Given the description of an element on the screen output the (x, y) to click on. 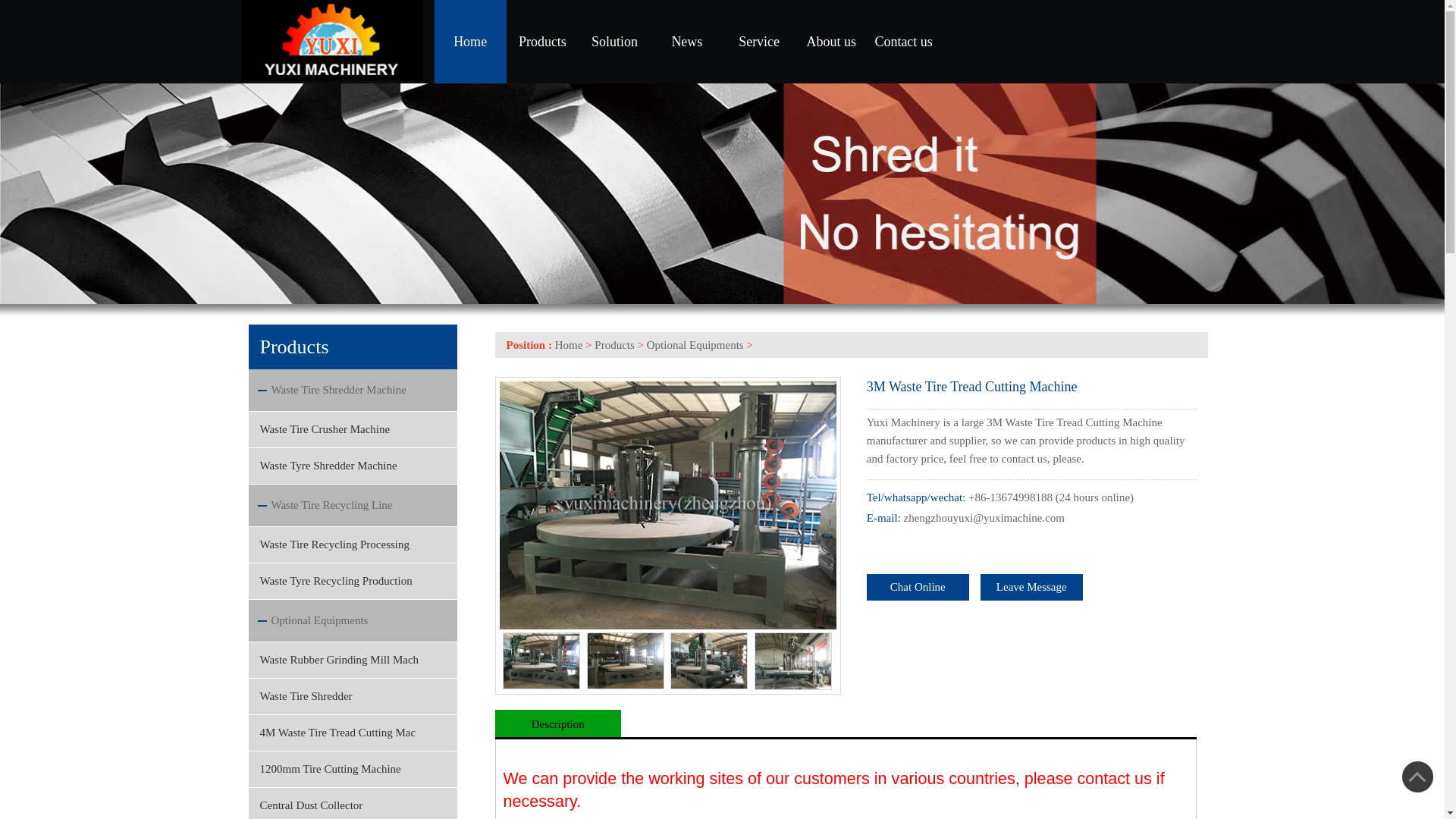
Waste Rubber Grinding Mill Mach (352, 660)
Waste Tire Recycling Processing (352, 545)
Waste Tyre Recycling Production (352, 581)
Back to Top (1417, 780)
Optional Equipments (319, 620)
Waste Tire Shredder (352, 696)
Waste Tire Crusher Machine (352, 429)
Waste Tyre Shredder Machine (352, 465)
Waste Tire Recycling Line (331, 504)
Waste Tire Shredder Machine (338, 389)
